Given the description of an element on the screen output the (x, y) to click on. 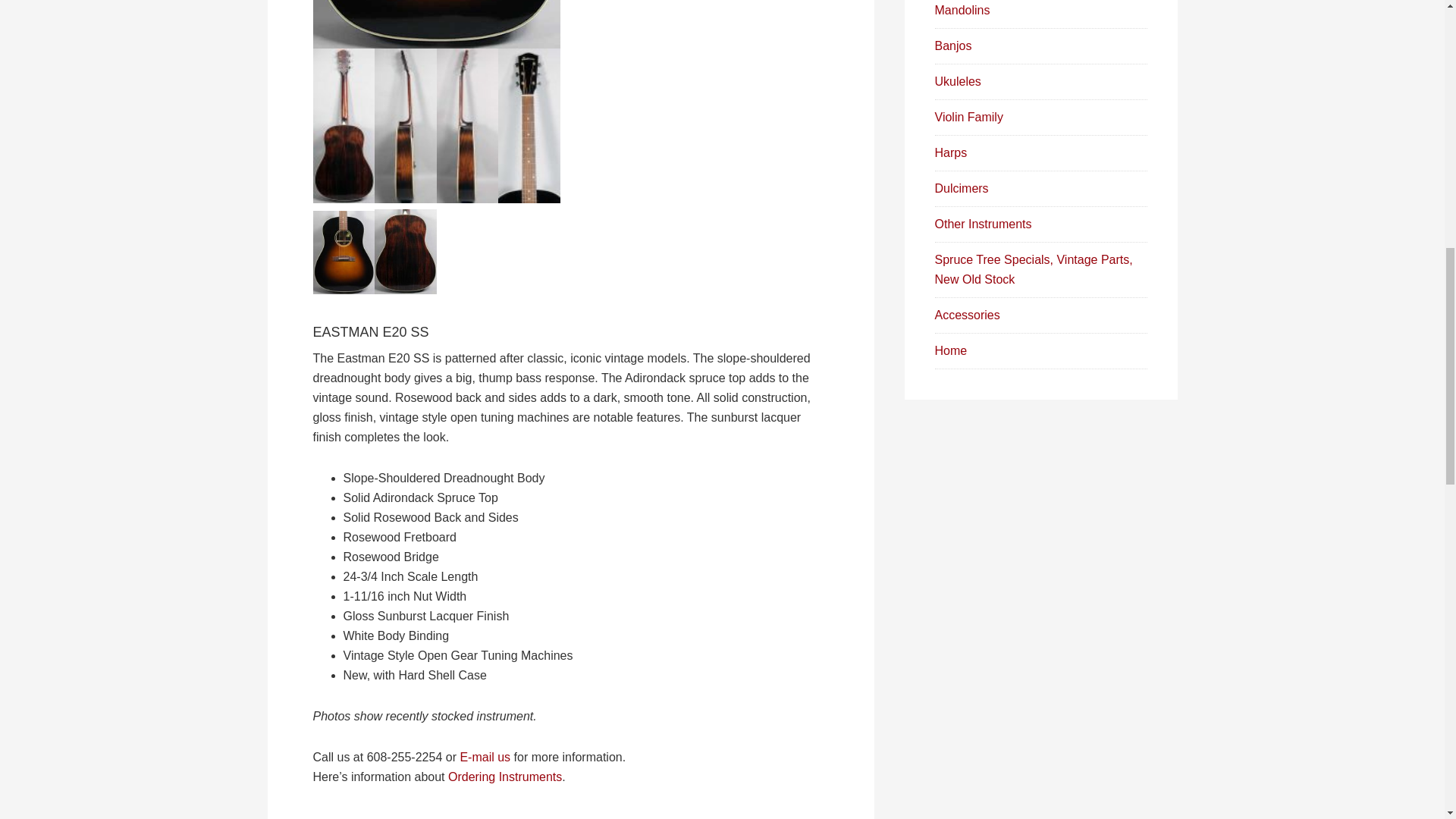
Ordering Instruments (505, 776)
Eastman E20SS (436, 24)
E-mail us (485, 757)
